Given the description of an element on the screen output the (x, y) to click on. 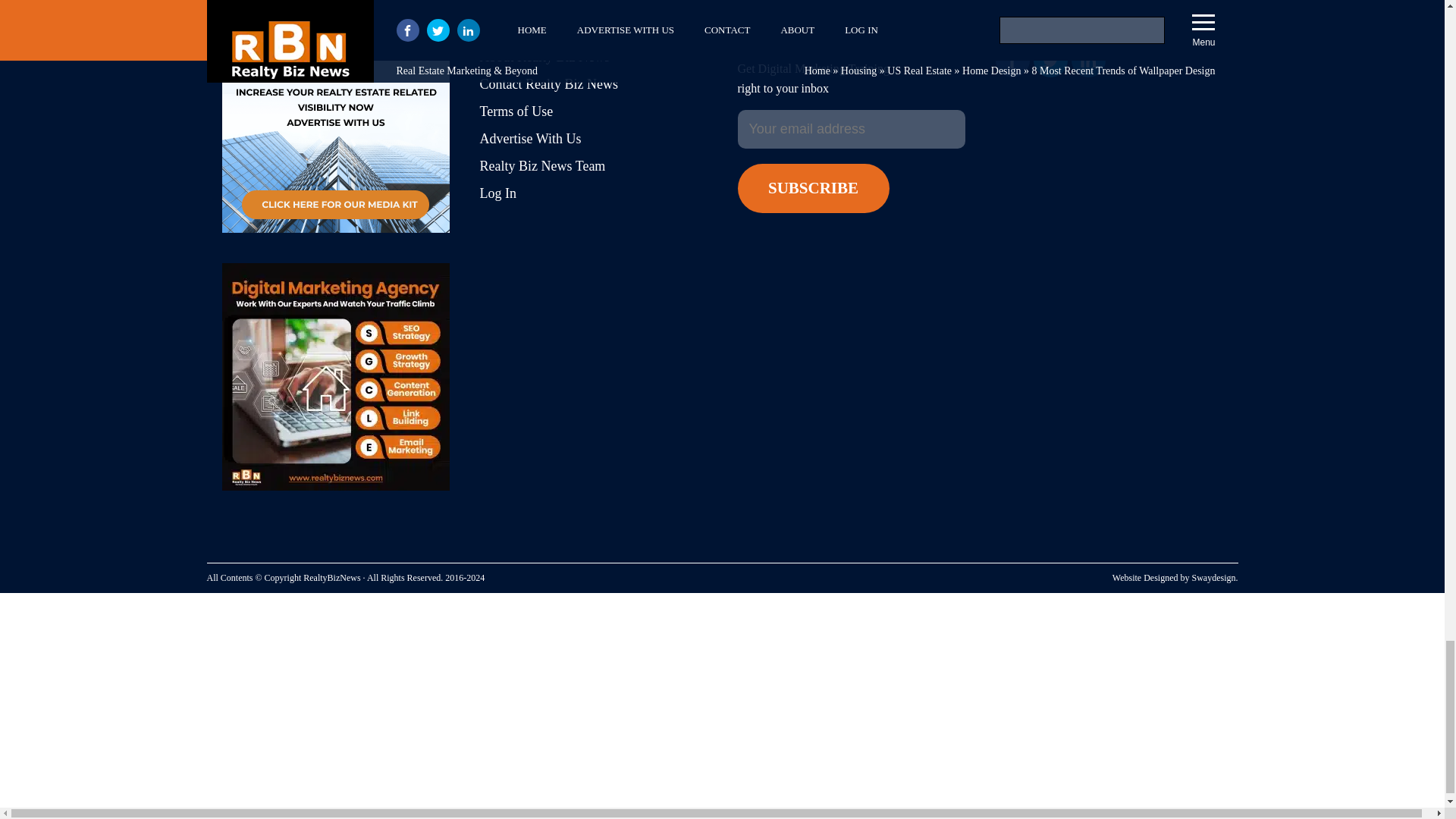
Subscribe (812, 187)
